Given the description of an element on the screen output the (x, y) to click on. 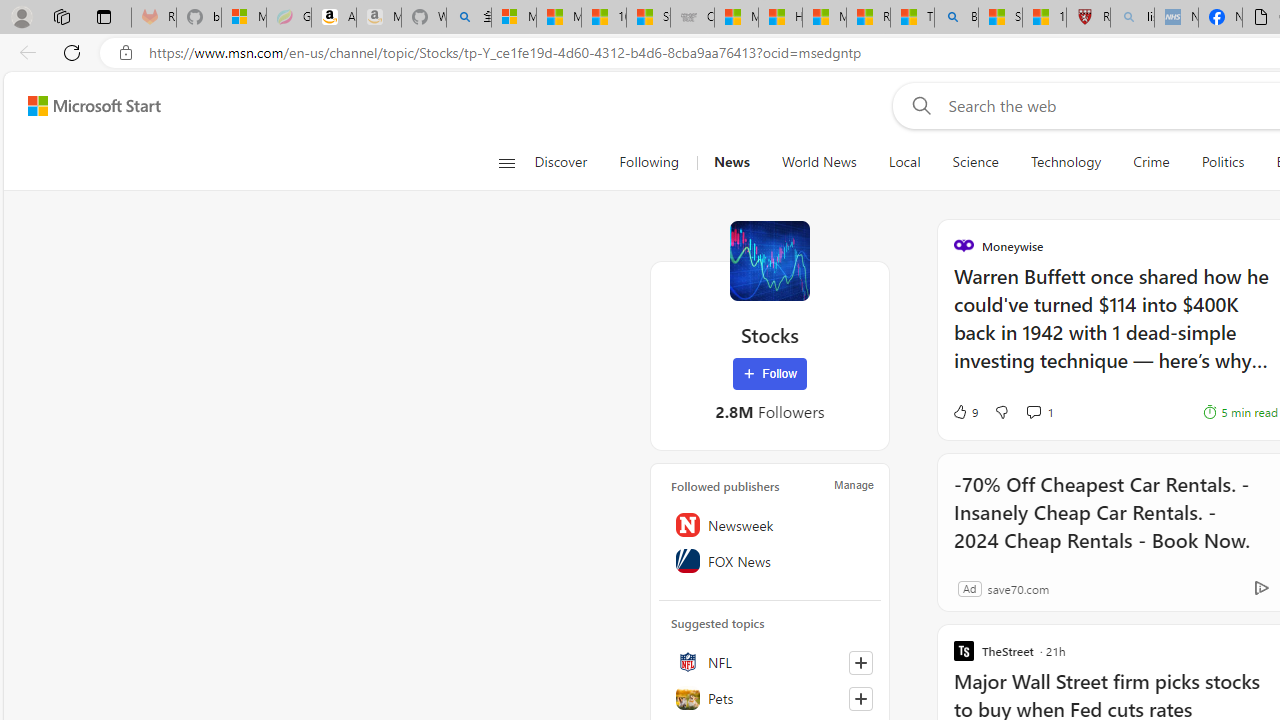
Dislike (1001, 412)
Local (904, 162)
9 Like (964, 412)
Microsoft account | Privacy (513, 17)
NFL (770, 661)
Science - MSN (1000, 17)
News (731, 162)
Crime (1150, 162)
Combat Siege (692, 17)
Microsoft-Report a Concern to Bing (243, 17)
12 Popular Science Lies that Must be Corrected (1044, 17)
Science (975, 162)
Discover (560, 162)
